Given the description of an element on the screen output the (x, y) to click on. 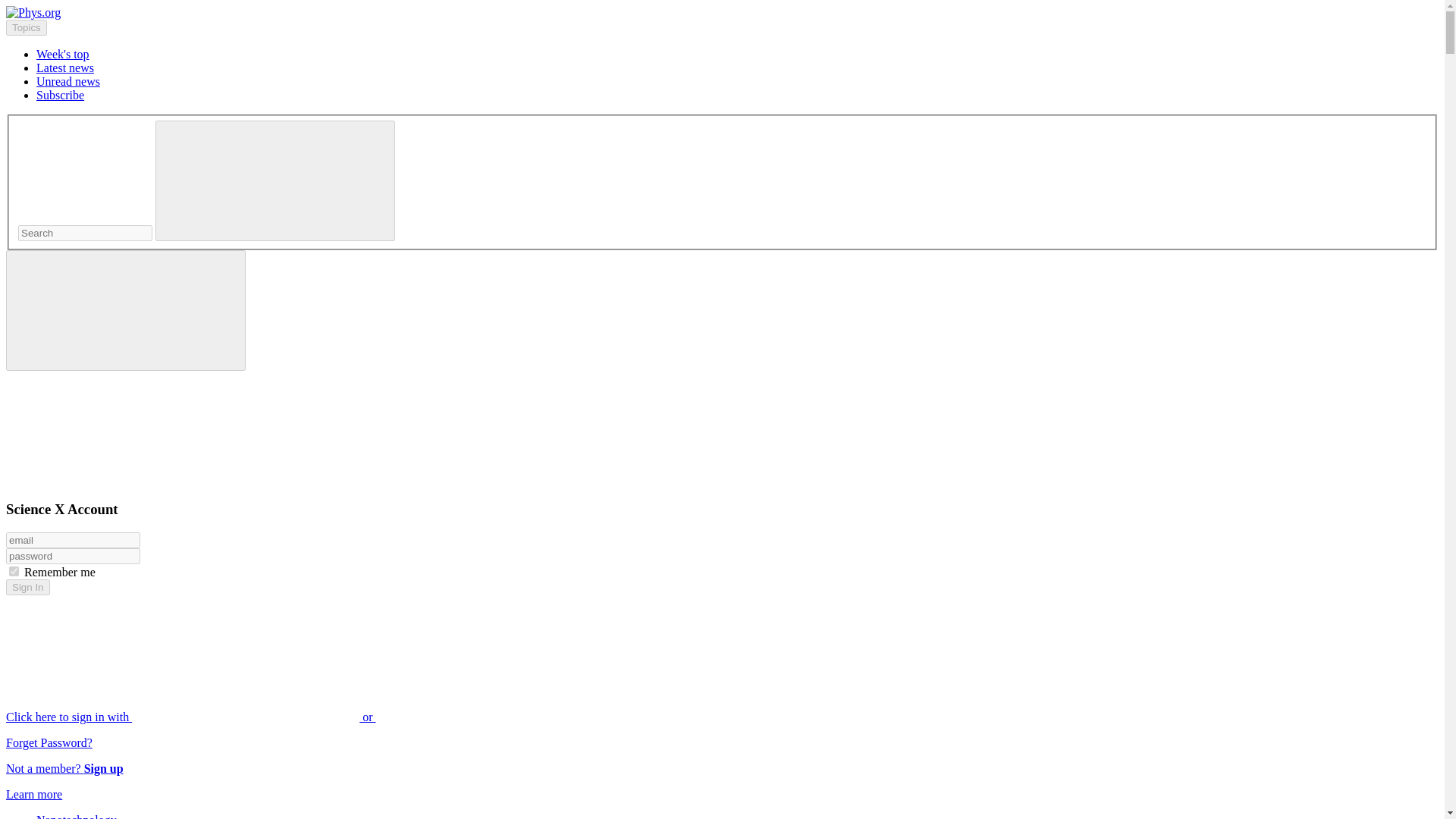
Sign In (27, 587)
Unread news (68, 81)
Week's top (62, 53)
Nanotechnology (76, 816)
Not a member? Sign up (64, 768)
Topics (25, 27)
on (13, 571)
Subscribe (60, 94)
Latest news (65, 67)
Learn more (33, 793)
